Given the description of an element on the screen output the (x, y) to click on. 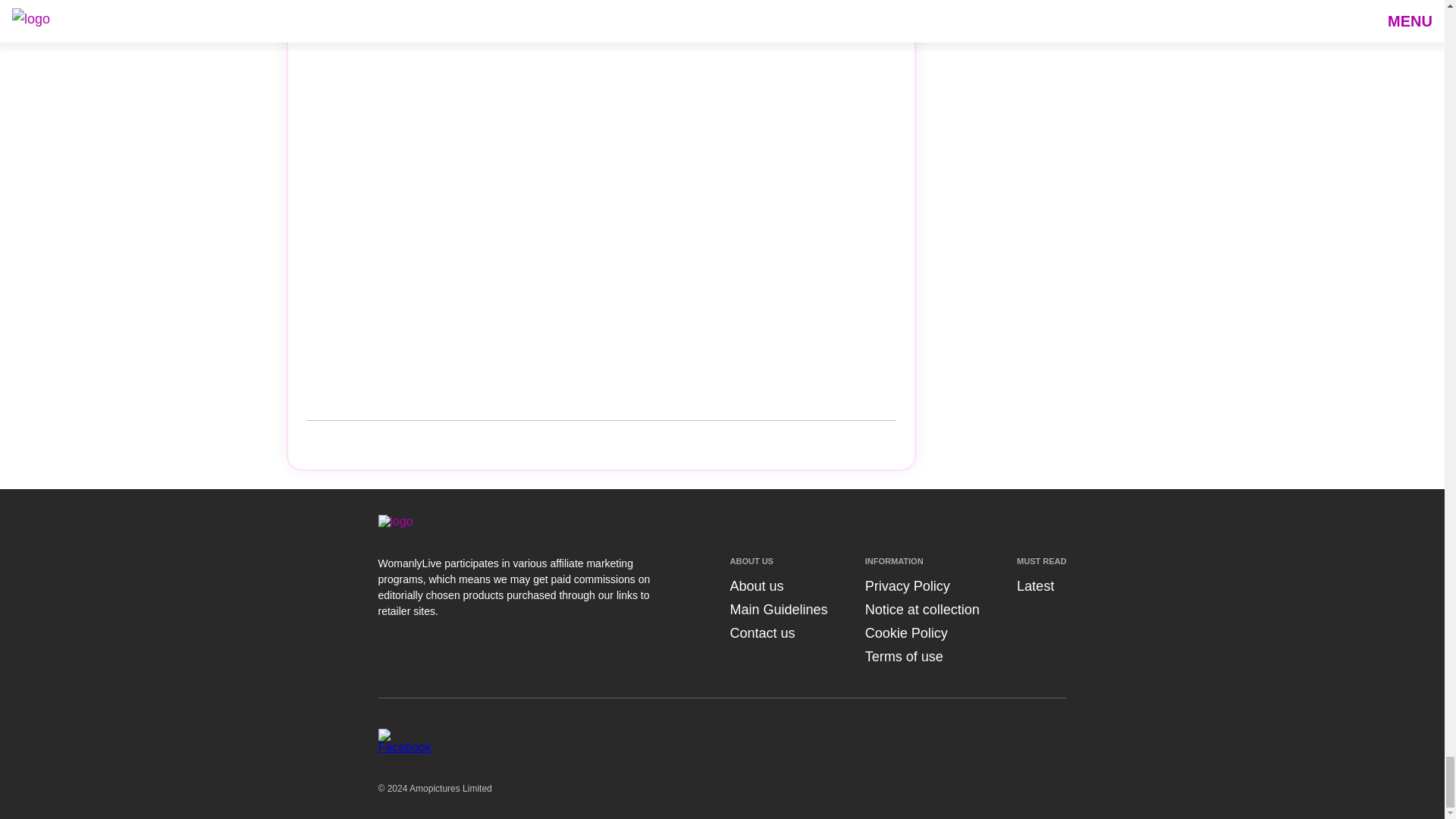
Main Guidelines (778, 609)
Notice at collection (921, 609)
Contact us (761, 632)
About us (756, 585)
Privacy Policy (907, 585)
